Given the description of an element on the screen output the (x, y) to click on. 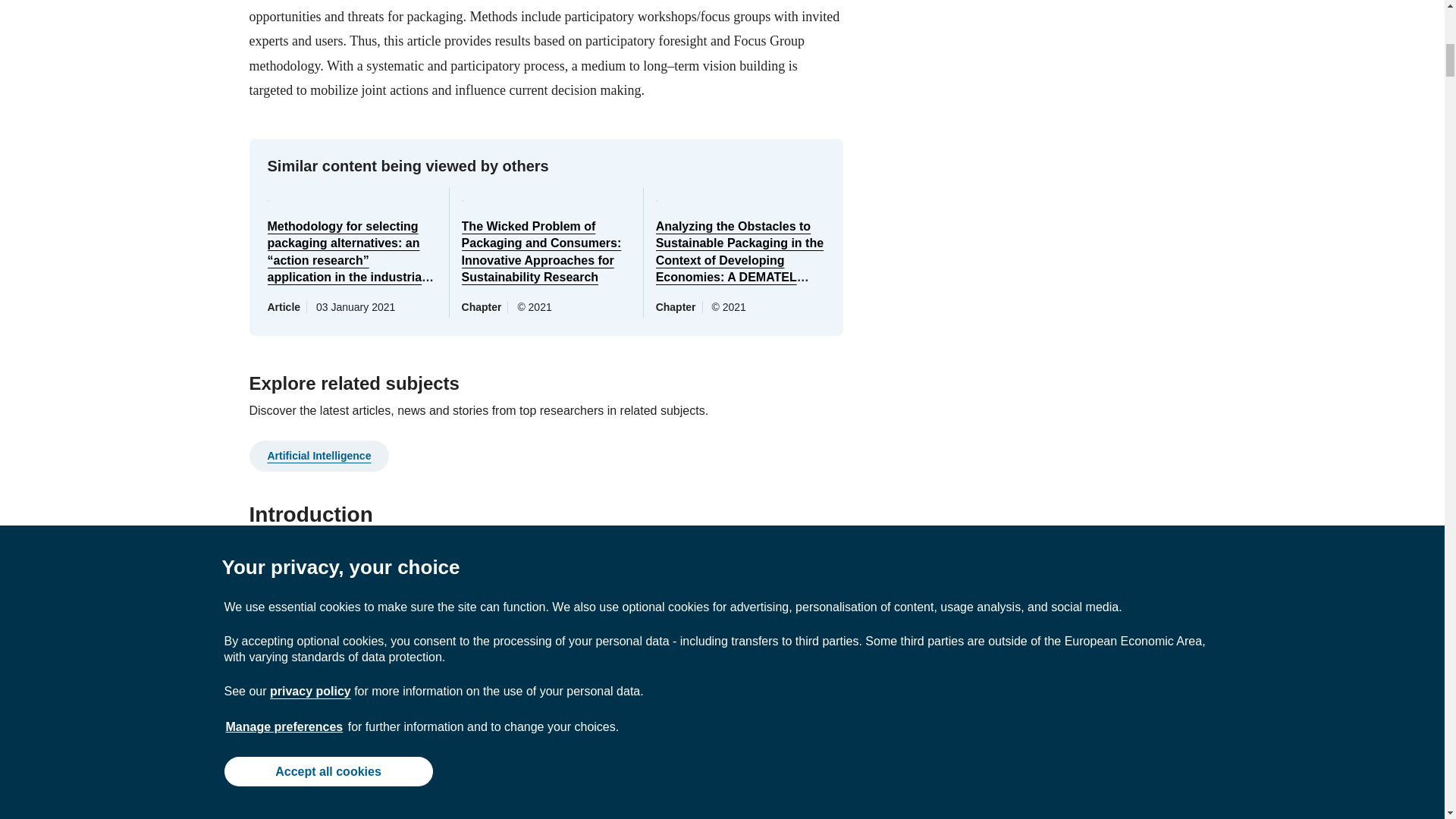
26 (259, 811)
Artificial Intelligence (318, 455)
29 (281, 811)
